Given the description of an element on the screen output the (x, y) to click on. 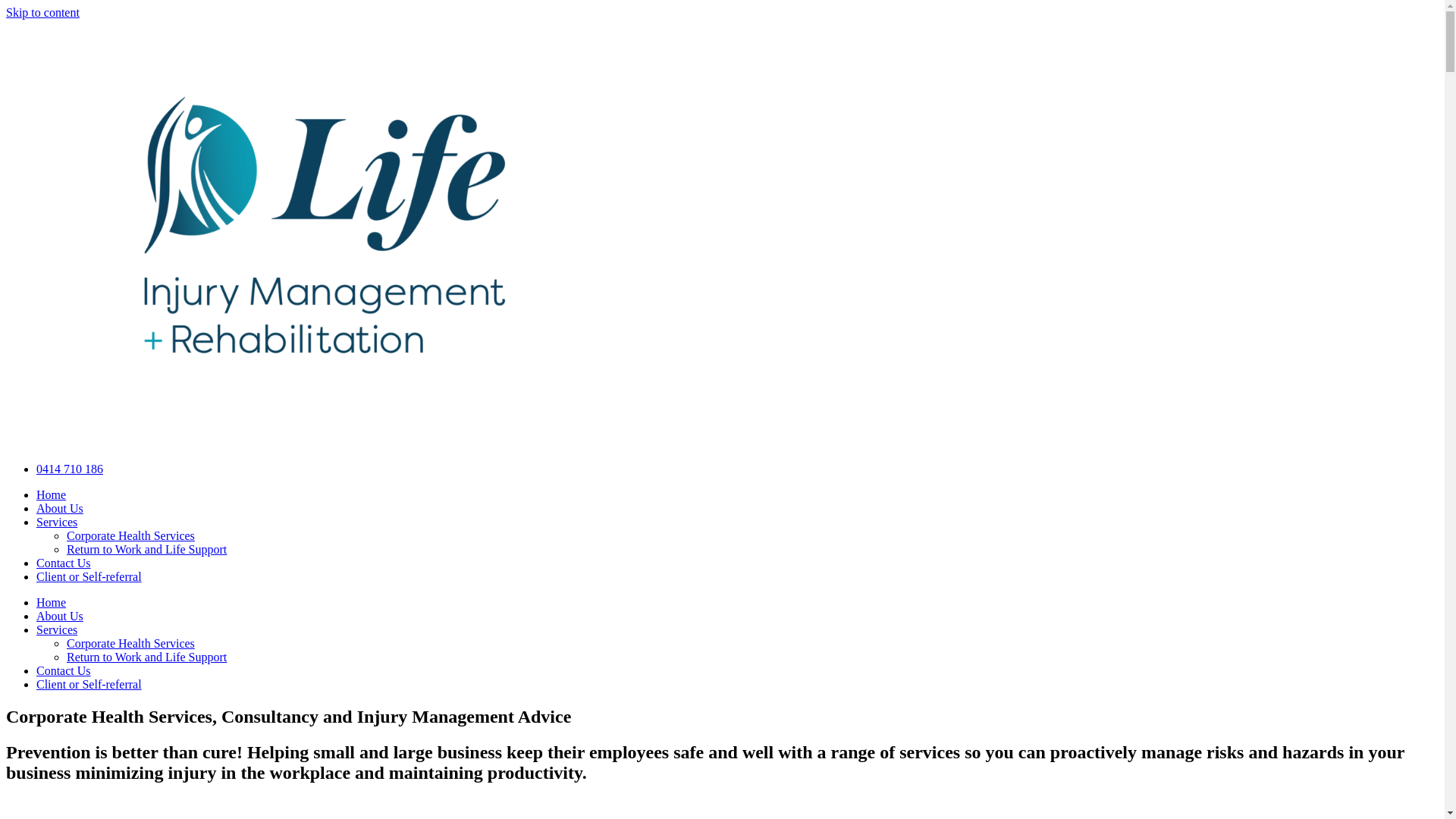
Client or Self-referral Element type: text (88, 576)
About Us Element type: text (59, 508)
Corporate Health Services Element type: text (130, 643)
Client or Self-referral Element type: text (88, 683)
Home Element type: text (50, 494)
Home Element type: text (50, 602)
Contact Us Element type: text (63, 670)
Corporate Health Services Element type: text (130, 535)
Services Element type: text (56, 521)
Skip to content Element type: text (42, 12)
Return to Work and Life Support Element type: text (146, 548)
Return to Work and Life Support Element type: text (146, 656)
0414 710 186 Element type: text (69, 468)
Contact Us Element type: text (63, 562)
Services Element type: text (56, 629)
About Us Element type: text (59, 615)
